Given the description of an element on the screen output the (x, y) to click on. 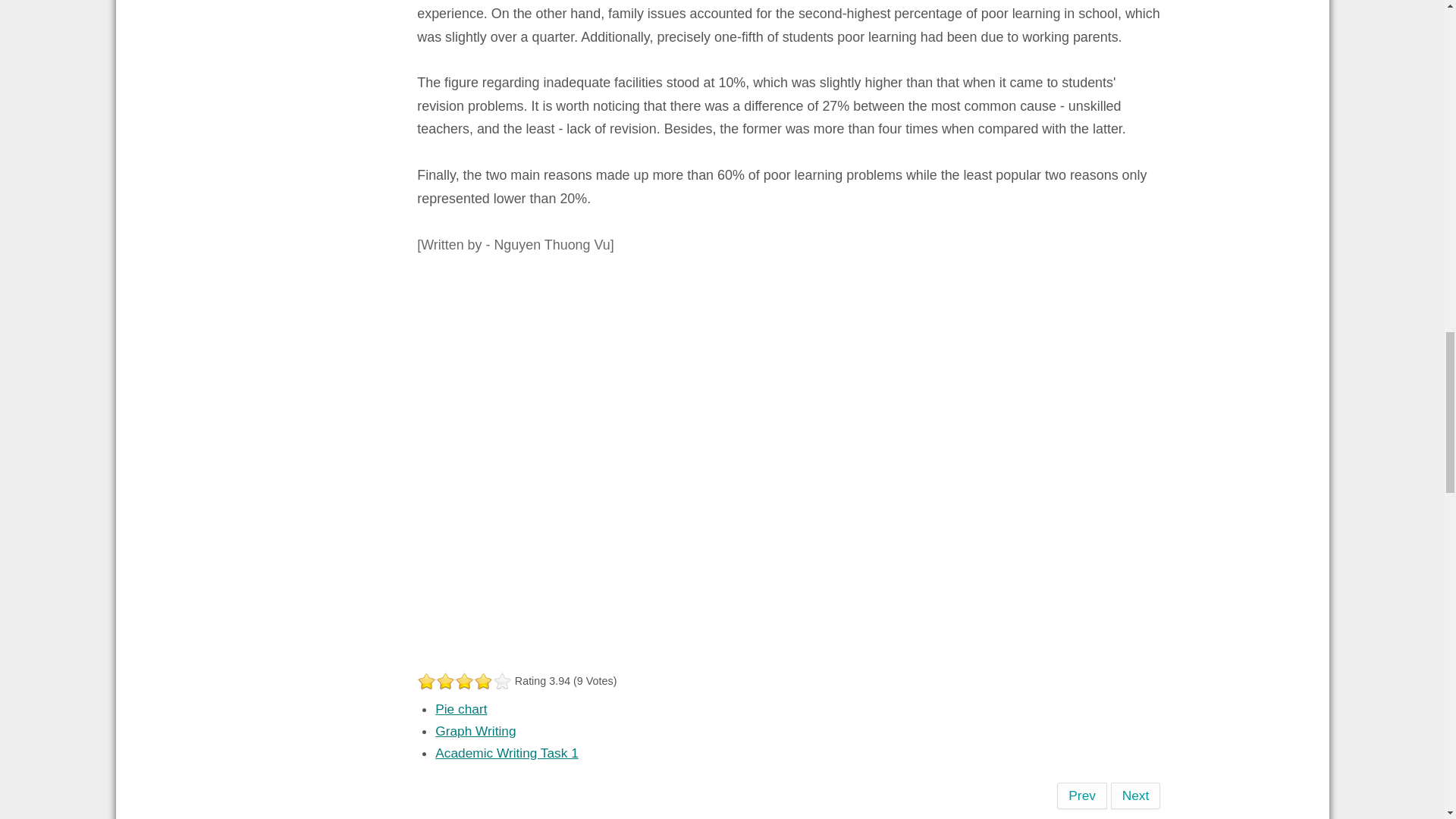
2.5 out of 5 (440, 681)
4.5 out of 5 (459, 681)
2 out of 5 (435, 681)
5 out of 5 (464, 681)
1.5 out of 5 (430, 681)
3 out of 5 (445, 681)
3.5 out of 5 (449, 681)
1 out of 5 (425, 681)
4 out of 5 (454, 681)
